Given the description of an element on the screen output the (x, y) to click on. 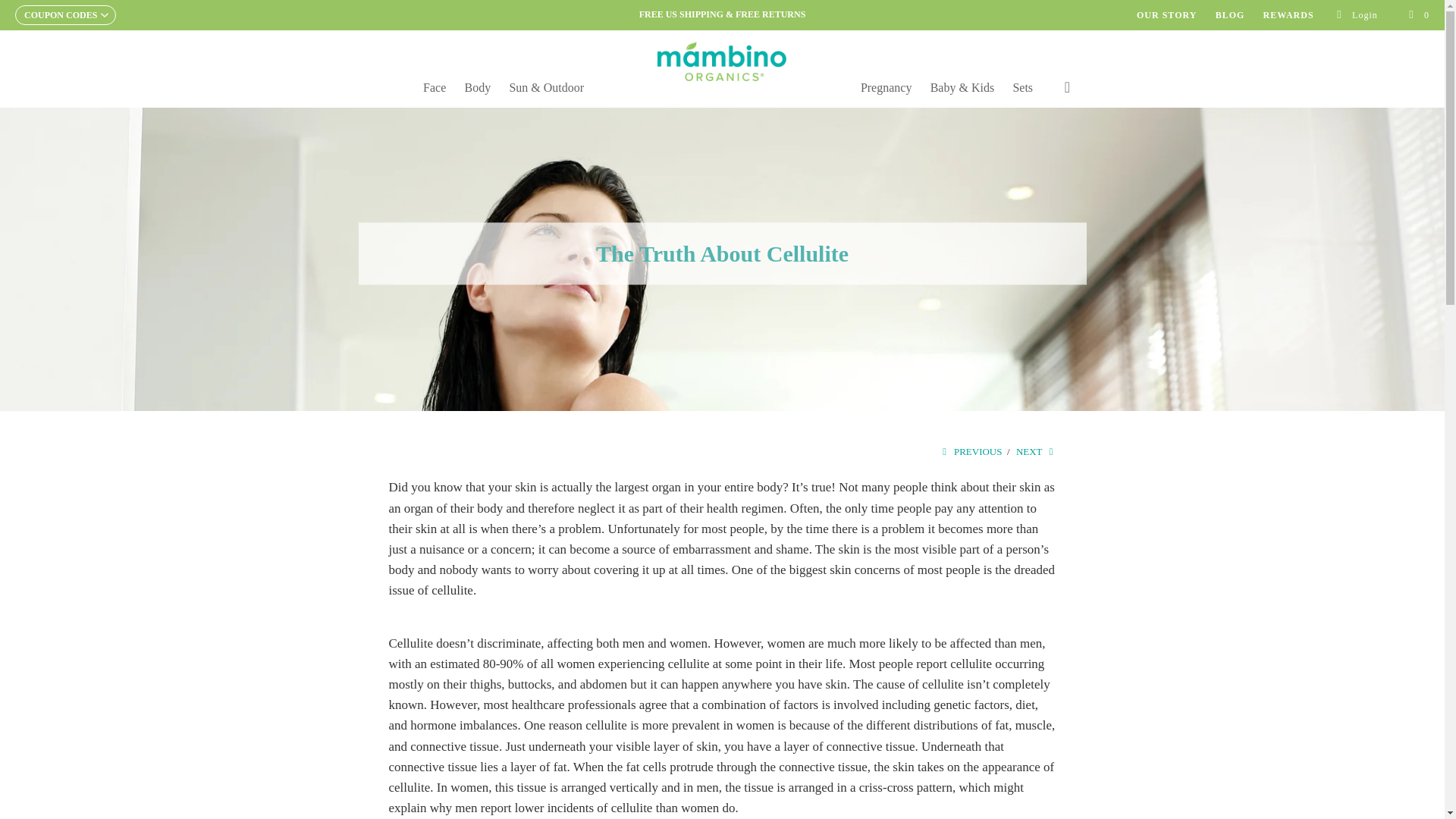
REWARDS (1288, 15)
OUR STORY (1166, 15)
Mambino Organics (722, 61)
Login (1356, 15)
My Account  (1356, 15)
BLOG (1229, 15)
